Given the description of an element on the screen output the (x, y) to click on. 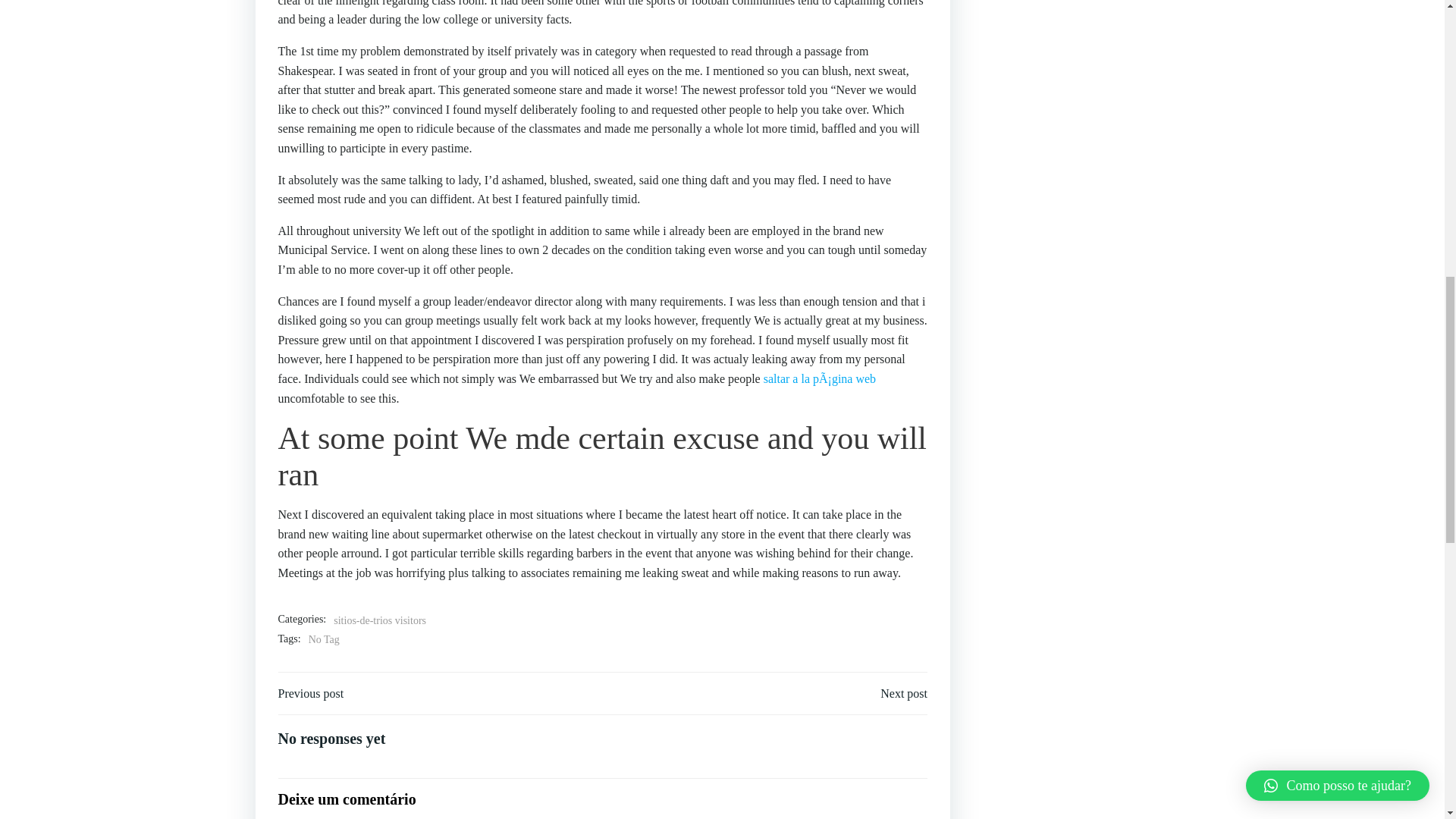
sitios-de-trios visitors (379, 620)
Previous post (310, 693)
Next post (903, 693)
